Given the description of an element on the screen output the (x, y) to click on. 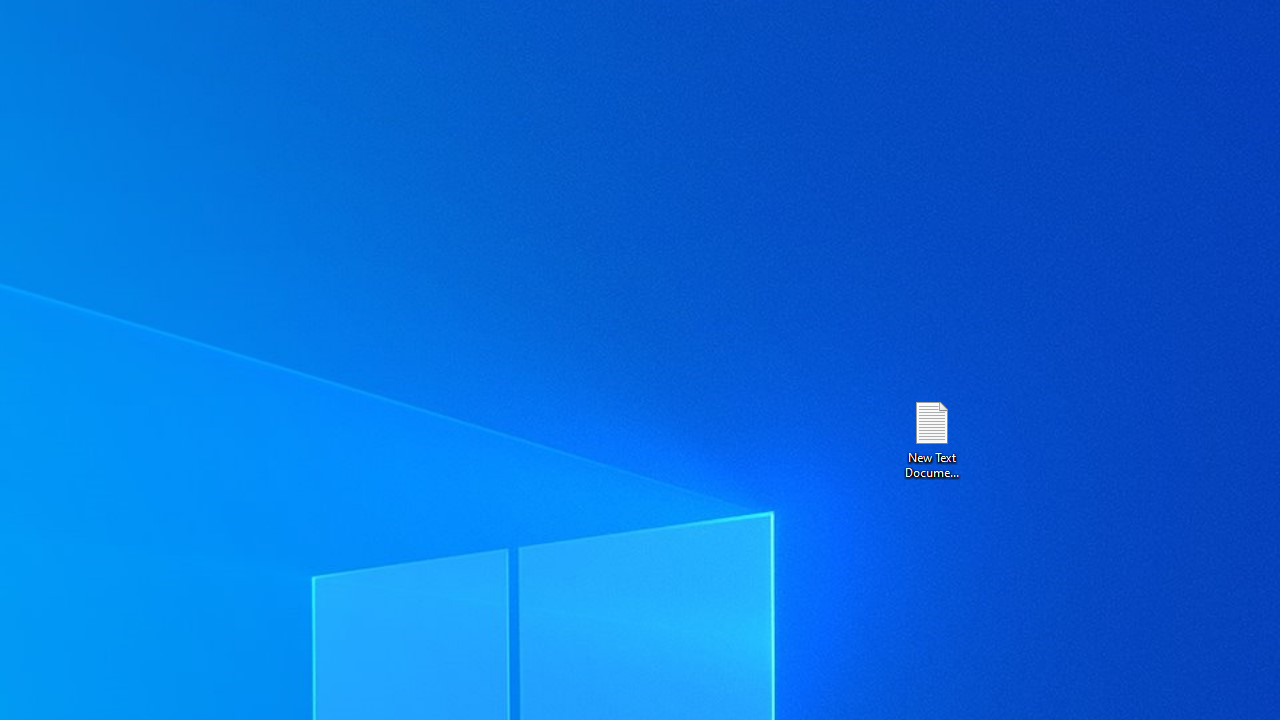
New Text Document (2) (931, 438)
